Given the description of an element on the screen output the (x, y) to click on. 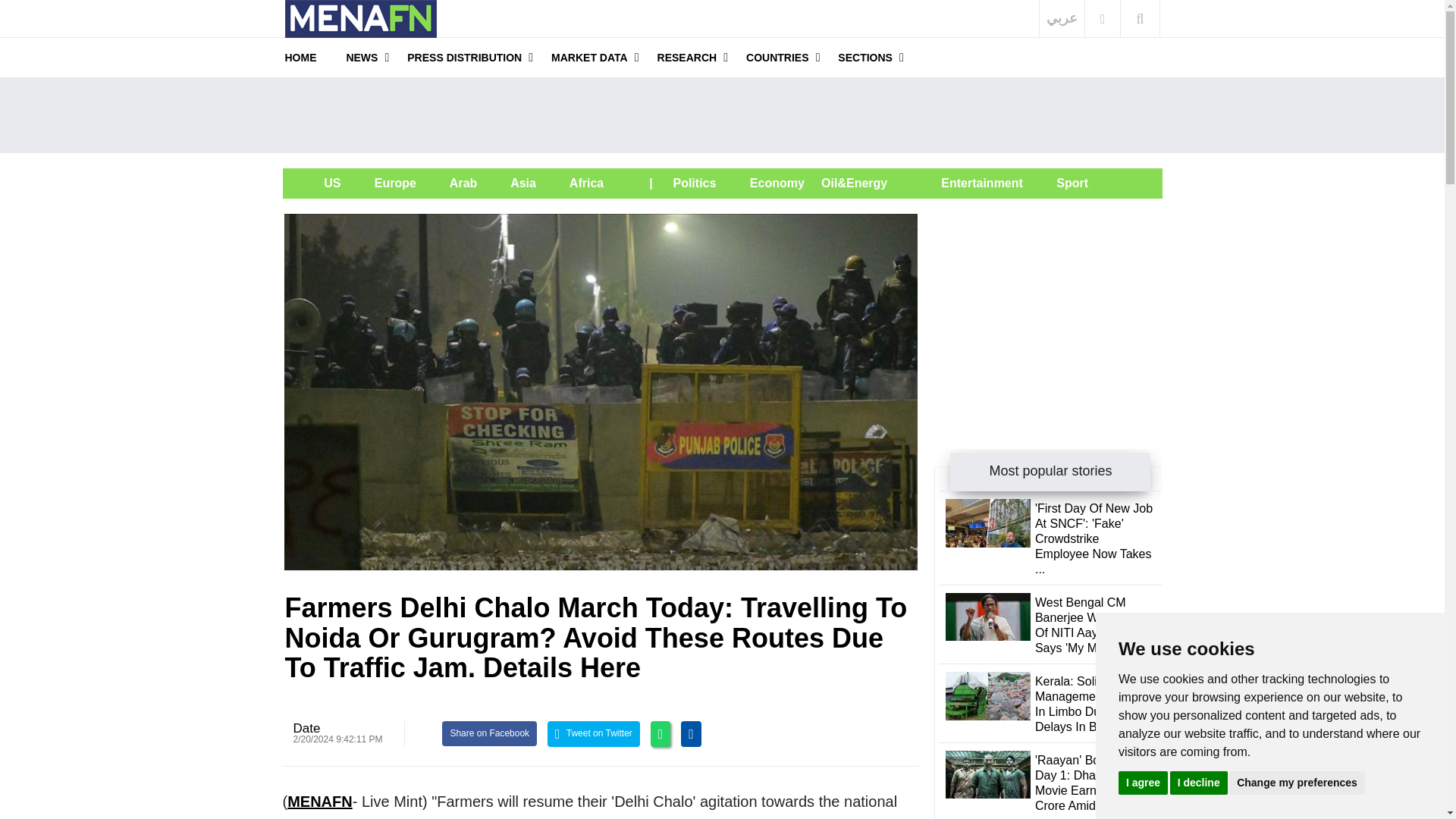
Posts by NewEdge (306, 728)
Change my preferences (1296, 781)
PRESS DISTRIBUTION (464, 56)
I decline (1198, 781)
I agree (1142, 781)
MARKET DATA (589, 56)
Advertisement (1047, 308)
